Given the description of an element on the screen output the (x, y) to click on. 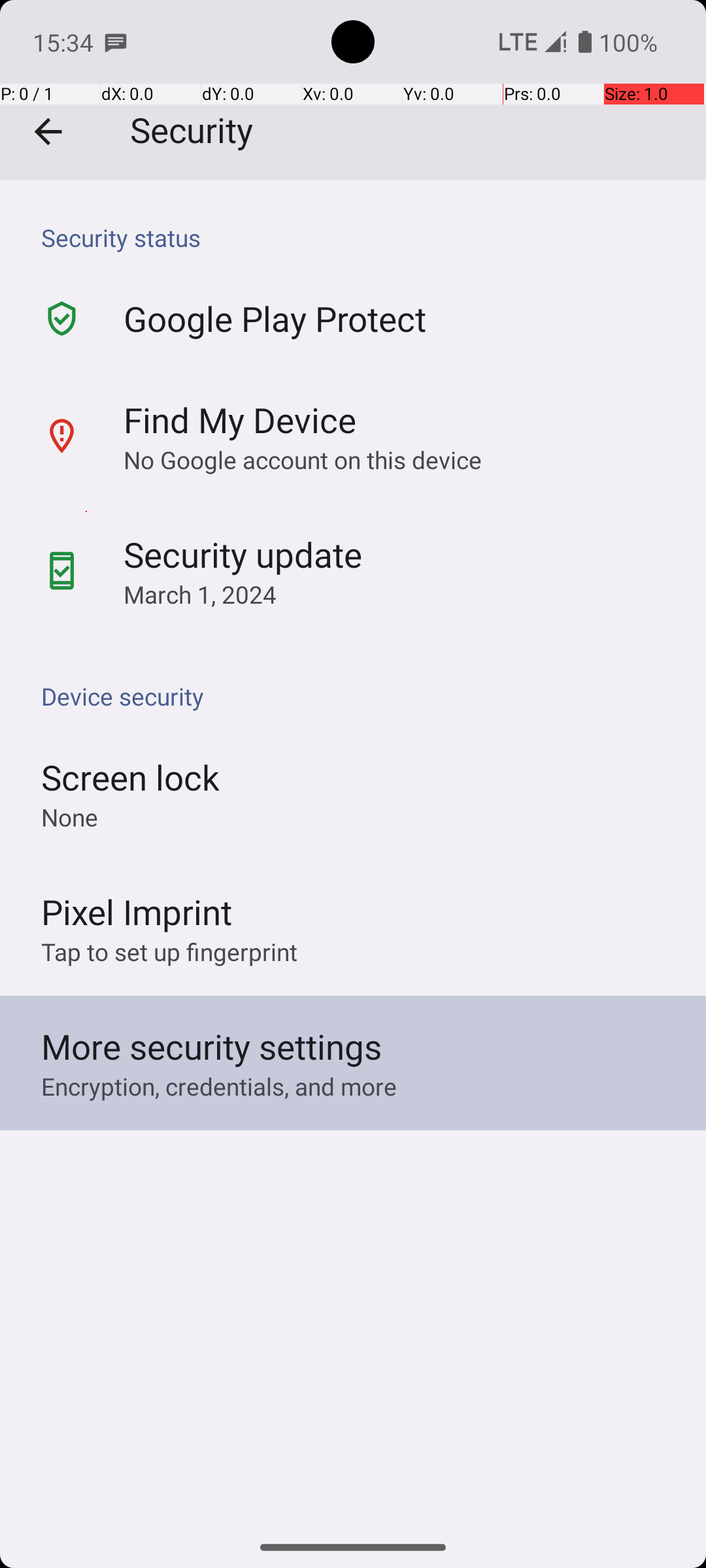
Security Element type: android.widget.FrameLayout (353, 89)
Security status Element type: android.widget.TextView (359, 237)
Google Play Protect Element type: android.widget.TextView (274, 318)
Find My Device Element type: android.widget.TextView (239, 419)
No Google account on this device Element type: android.widget.TextView (302, 459)
Security update Element type: android.widget.TextView (242, 554)
March 1, 2024 Element type: android.widget.TextView (199, 593)
Device security Element type: android.widget.TextView (359, 695)
Screen lock Element type: android.widget.TextView (130, 776)
Pixel Imprint Element type: android.widget.TextView (136, 911)
Tap to set up fingerprint Element type: android.widget.TextView (169, 951)
More security settings Element type: android.widget.TextView (211, 1046)
Encryption, credentials, and more Element type: android.widget.TextView (218, 1085)
